Given the description of an element on the screen output the (x, y) to click on. 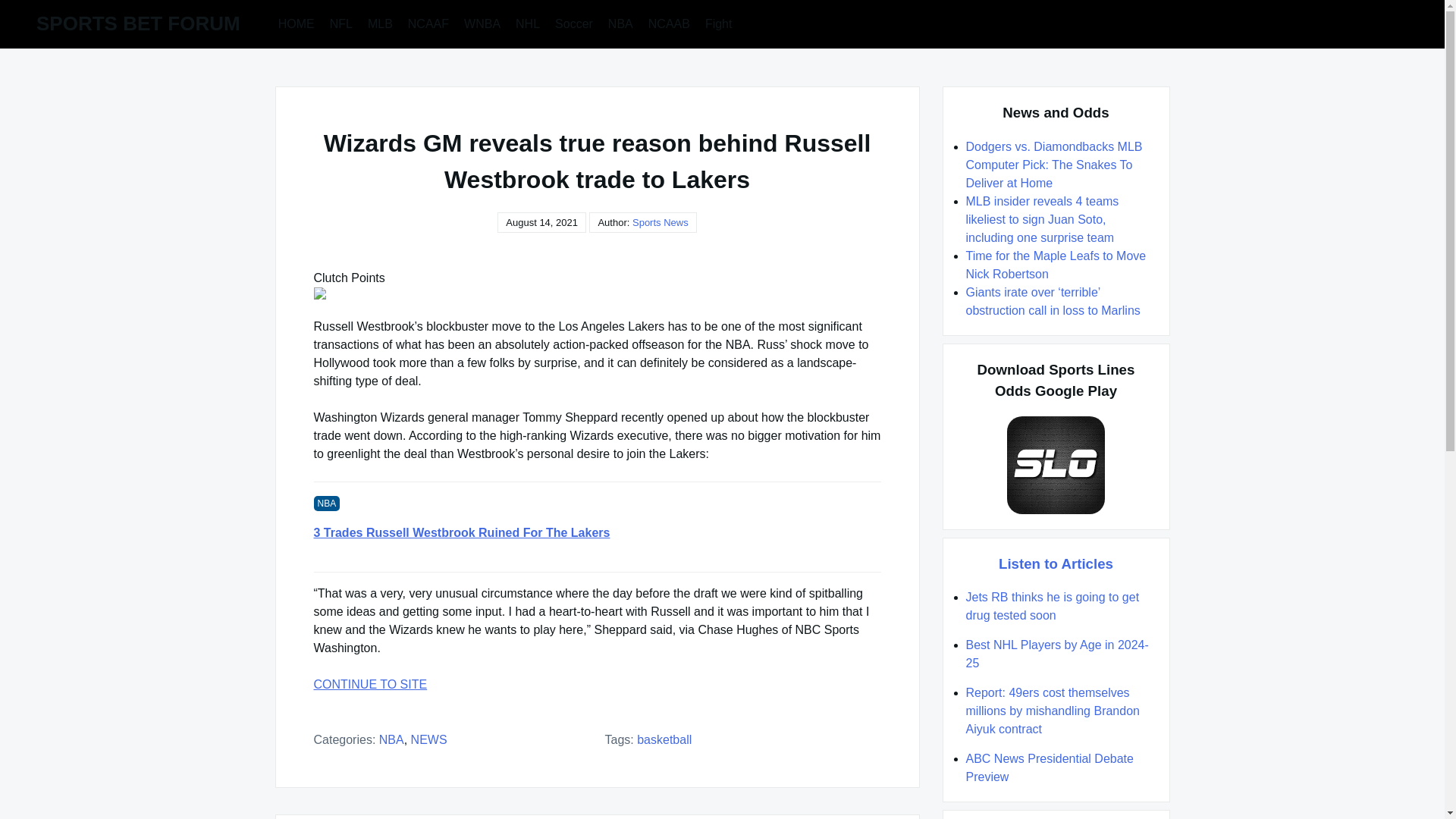
CONTINUE TO SITE (597, 684)
Soccer (573, 23)
3 Trades Russell Westbrook Ruined For The Lakers (597, 533)
NFL (340, 23)
NBA (619, 23)
HOME (295, 23)
MLB (379, 23)
NBA (391, 739)
SPORTS BET FORUM (138, 23)
basketball (664, 739)
